Given the description of an element on the screen output the (x, y) to click on. 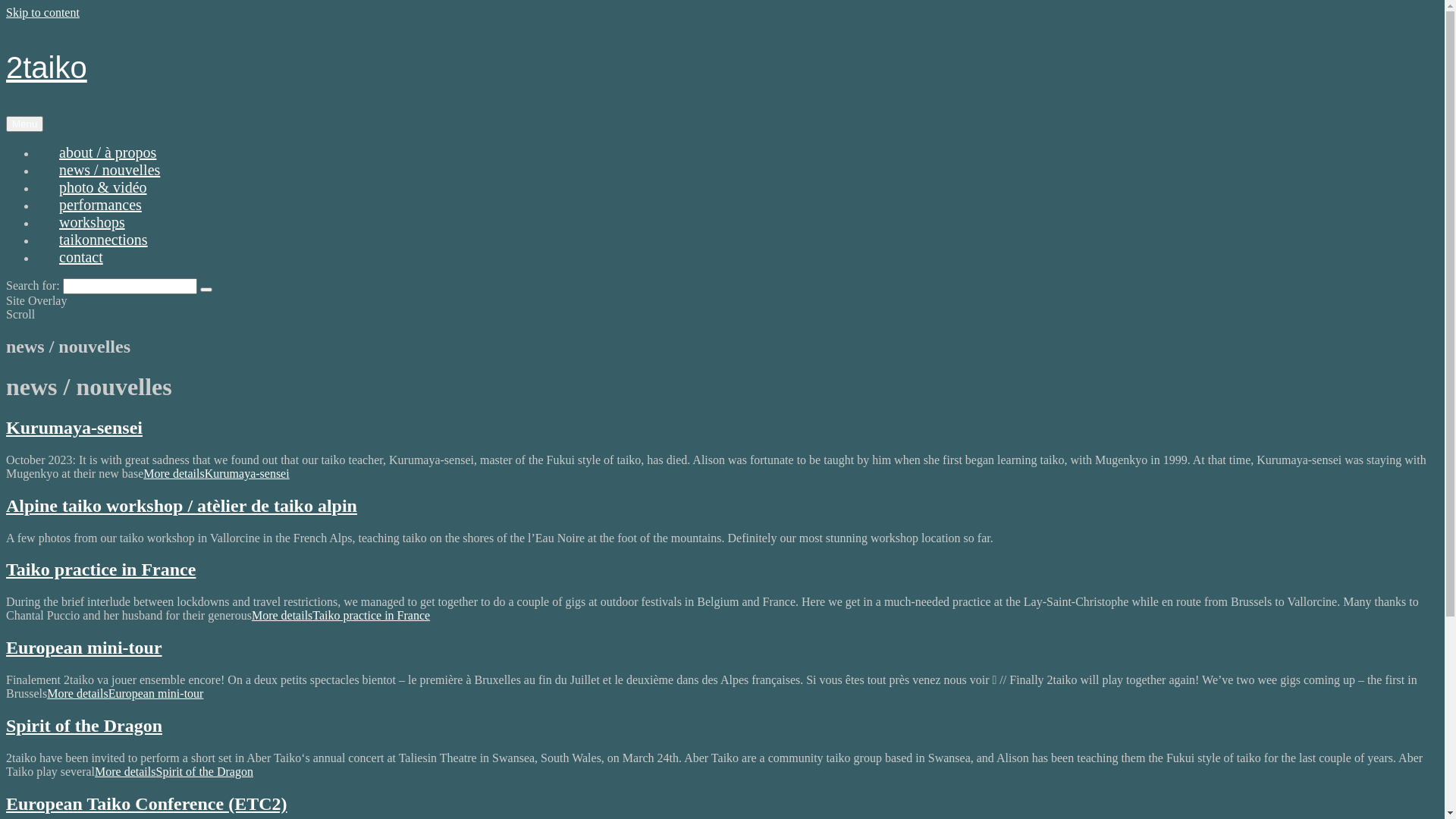
workshops Element type: text (91, 222)
Search for: Element type: hover (129, 286)
news / nouvelles Element type: text (109, 169)
More detailsEuropean mini-tour Element type: text (125, 693)
More detailsSpirit of the Dragon Element type: text (173, 771)
Taiko practice in France Element type: text (100, 569)
taikonnections Element type: text (103, 239)
More detailsTaiko practice in France Element type: text (340, 614)
Skip to content Element type: text (42, 12)
More detailsKurumaya-sensei Element type: text (215, 473)
2taiko Element type: text (46, 67)
Kurumaya-sensei Element type: text (74, 427)
contact Element type: text (80, 257)
Menu Element type: text (24, 123)
European mini-tour Element type: text (84, 647)
performances Element type: text (100, 204)
European Taiko Conference (ETC2) Element type: text (146, 803)
Spirit of the Dragon Element type: text (84, 725)
